Given the description of an element on the screen output the (x, y) to click on. 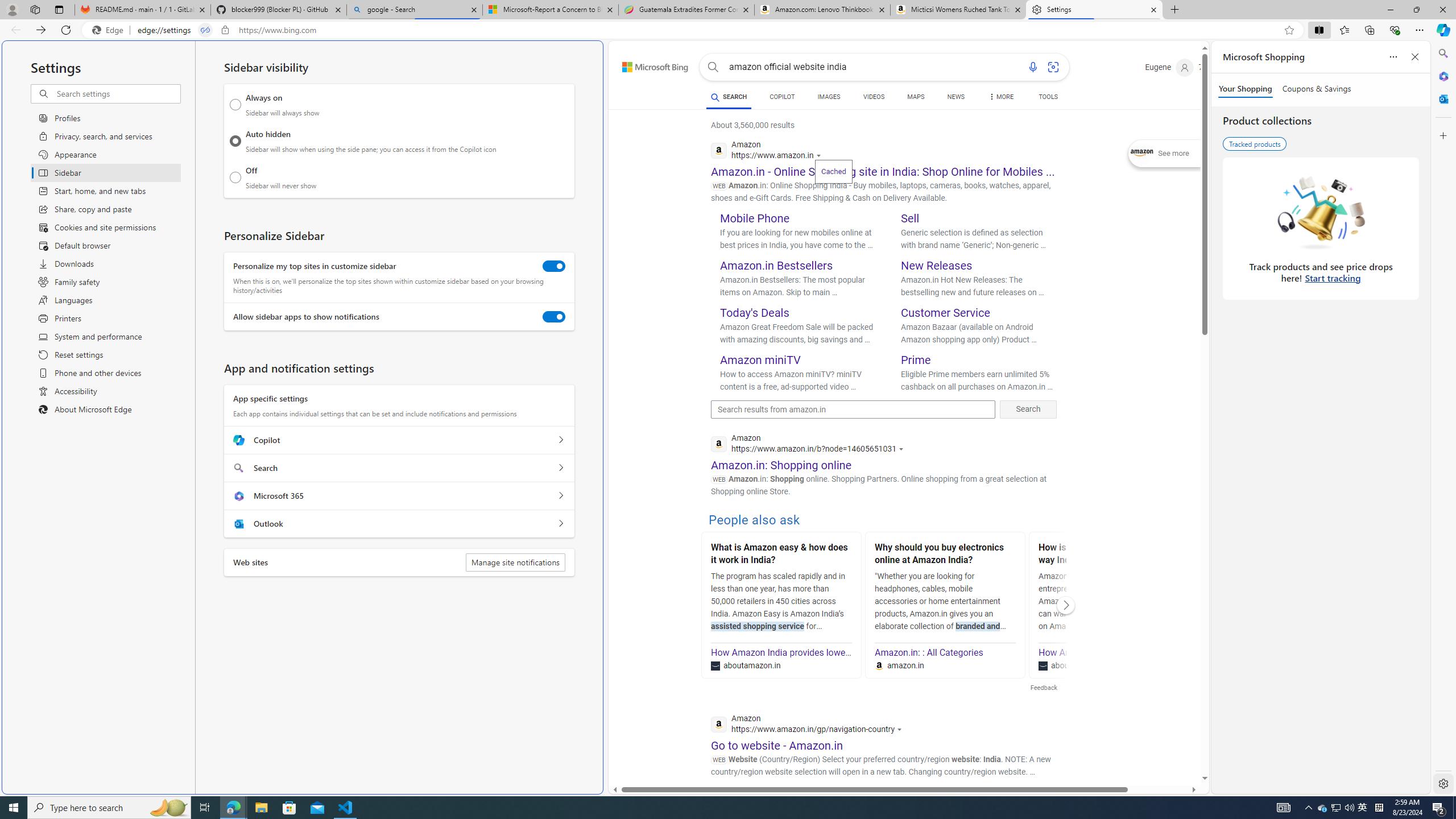
Today's Deals (754, 312)
Microsoft Rewards 72 (1214, 67)
Amazon (830, 805)
MAPS (915, 98)
Tabs in split screen (205, 29)
